Given the description of an element on the screen output the (x, y) to click on. 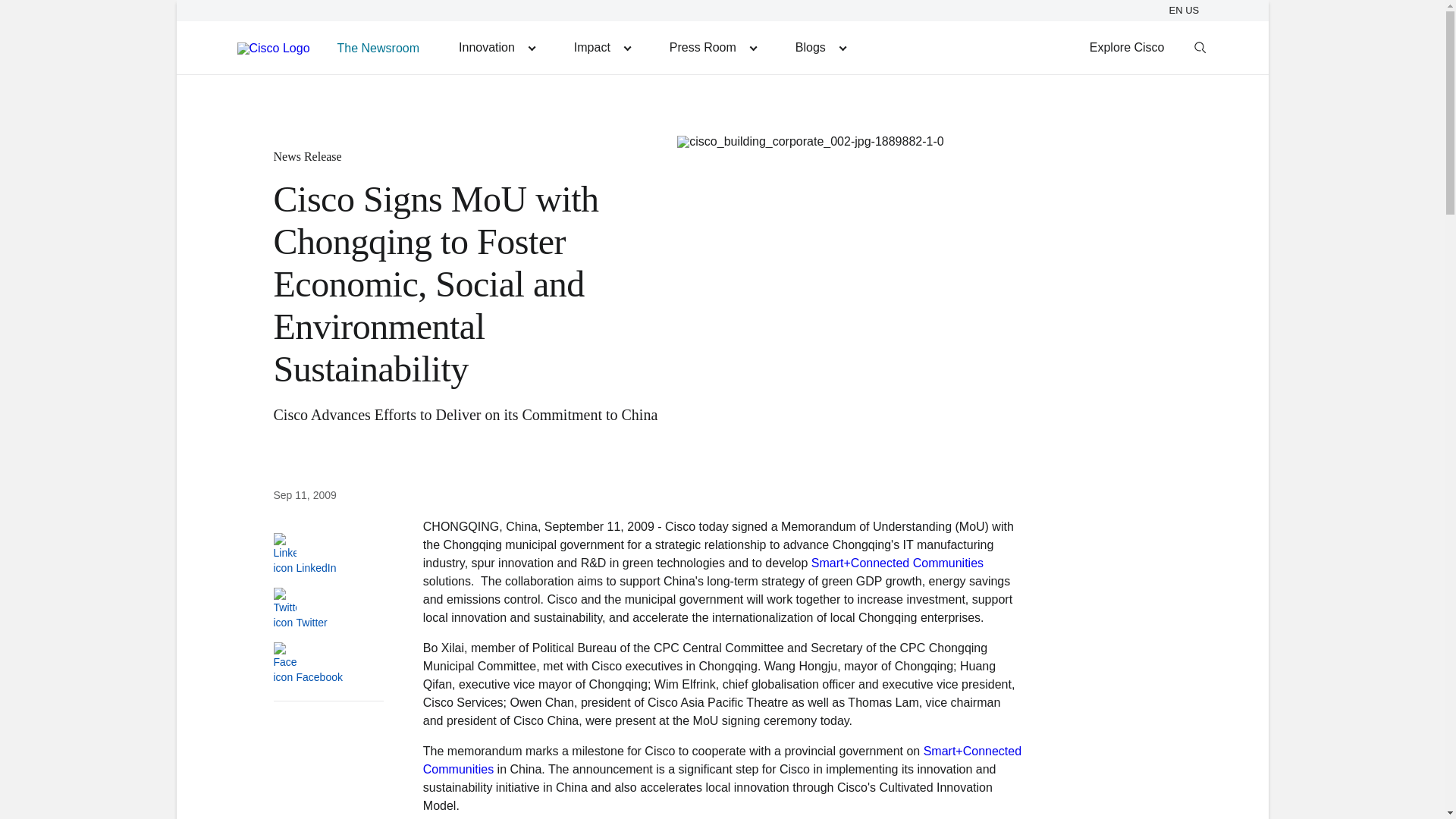
Explore Cisco (1126, 47)
Press Room (713, 47)
Impact (602, 47)
Media Center (713, 47)
Innovation (496, 47)
Innovation (496, 47)
The Newsroom (377, 47)
Blogs (820, 47)
Blogs (820, 47)
Impact (602, 47)
